Given the description of an element on the screen output the (x, y) to click on. 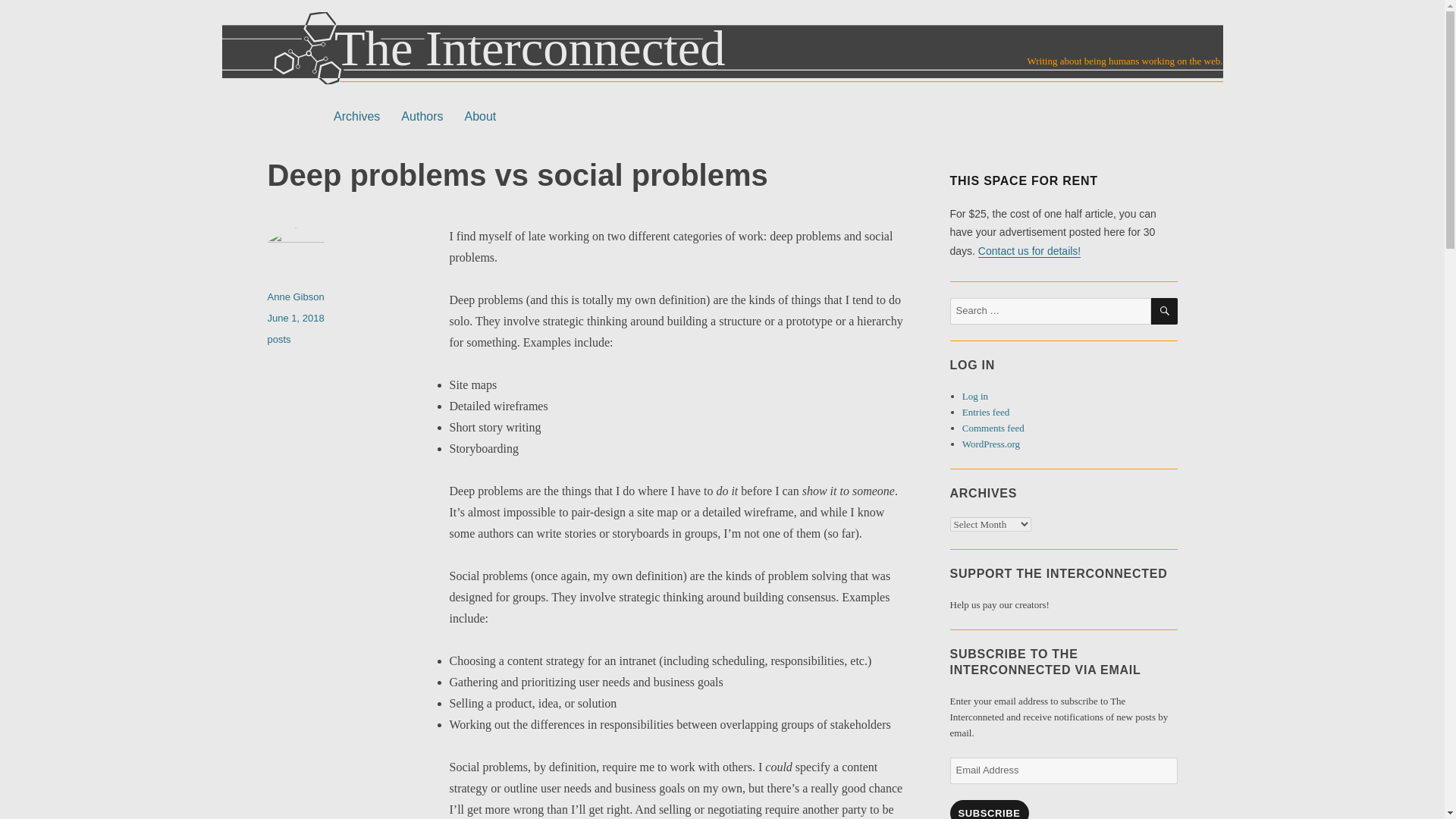
Anne Gibson (294, 296)
Archives (356, 116)
Log in (975, 396)
Entries feed (985, 411)
June 1, 2018 (294, 317)
posts (277, 338)
SEARCH (1164, 311)
Comments feed (993, 428)
About (479, 116)
Contact us for details! (1029, 250)
